Given the description of an element on the screen output the (x, y) to click on. 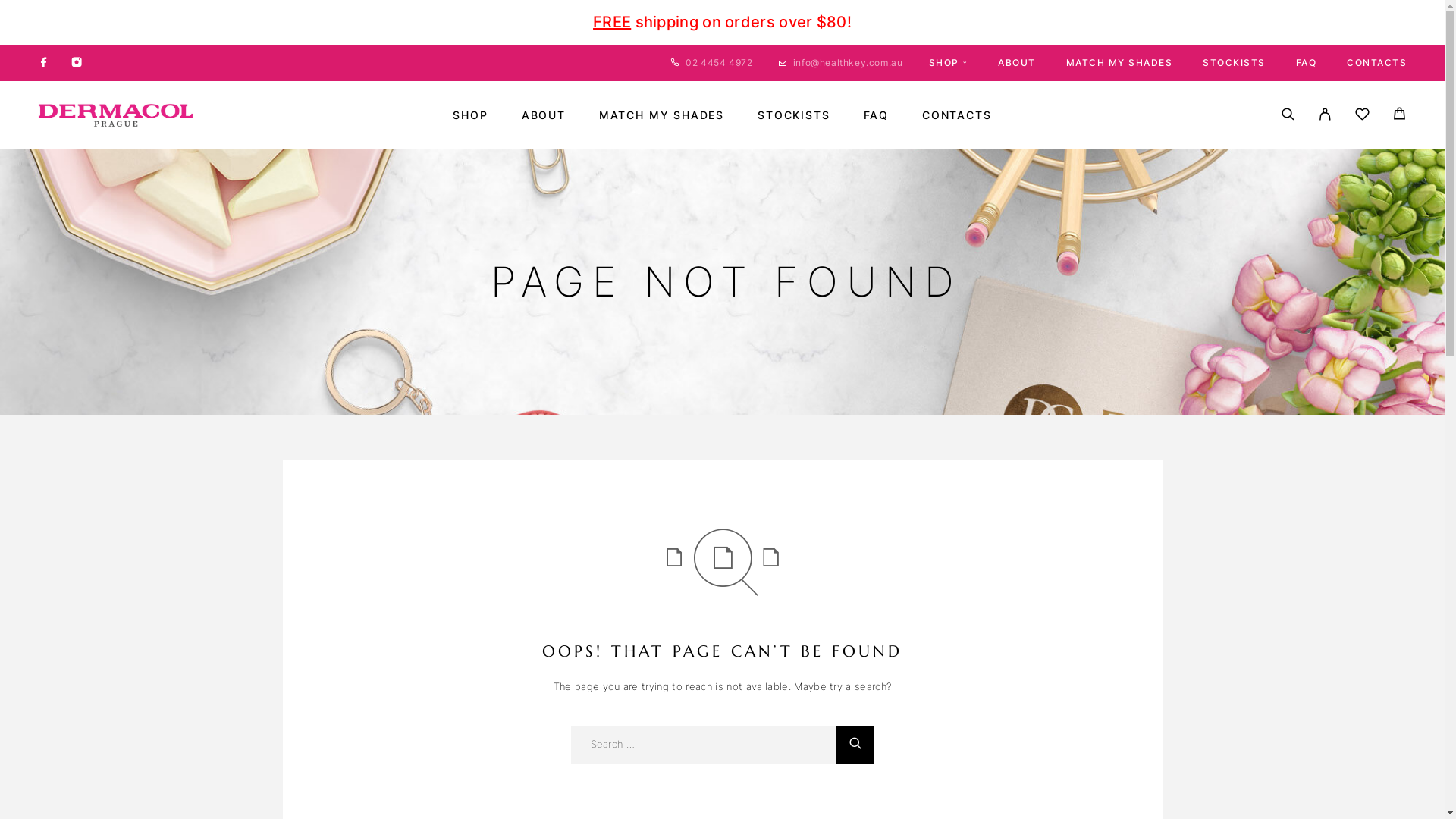
MATCH MY SHADES Element type: text (1119, 62)
STOCKISTS Element type: text (1233, 62)
FAQ Element type: text (1305, 62)
ABOUT Element type: text (1016, 62)
FAQ Element type: text (875, 115)
Login Element type: hover (1324, 114)
SHOP Element type: text (469, 115)
SHOP Element type: text (947, 62)
ABOUT Element type: text (543, 115)
info@healthkey.com.au Element type: text (848, 62)
MATCH MY SHADES Element type: text (661, 115)
02 4454 4972 Element type: text (718, 62)
CONTACTS Element type: text (956, 115)
STOCKISTS Element type: text (793, 115)
CONTACTS Element type: text (1376, 62)
